Given the description of an element on the screen output the (x, y) to click on. 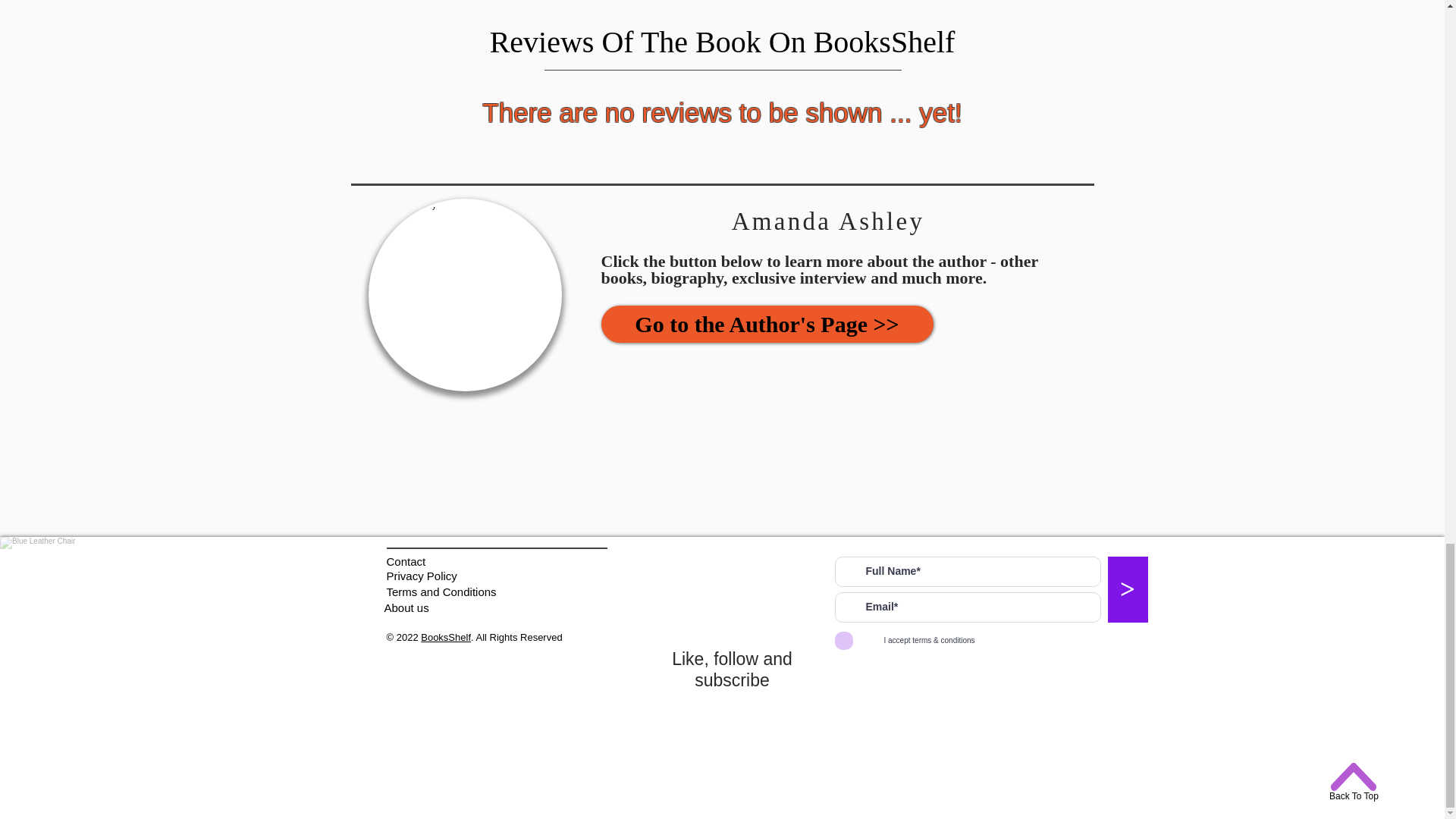
Amanda Ashley (465, 295)
